Given the description of an element on the screen output the (x, y) to click on. 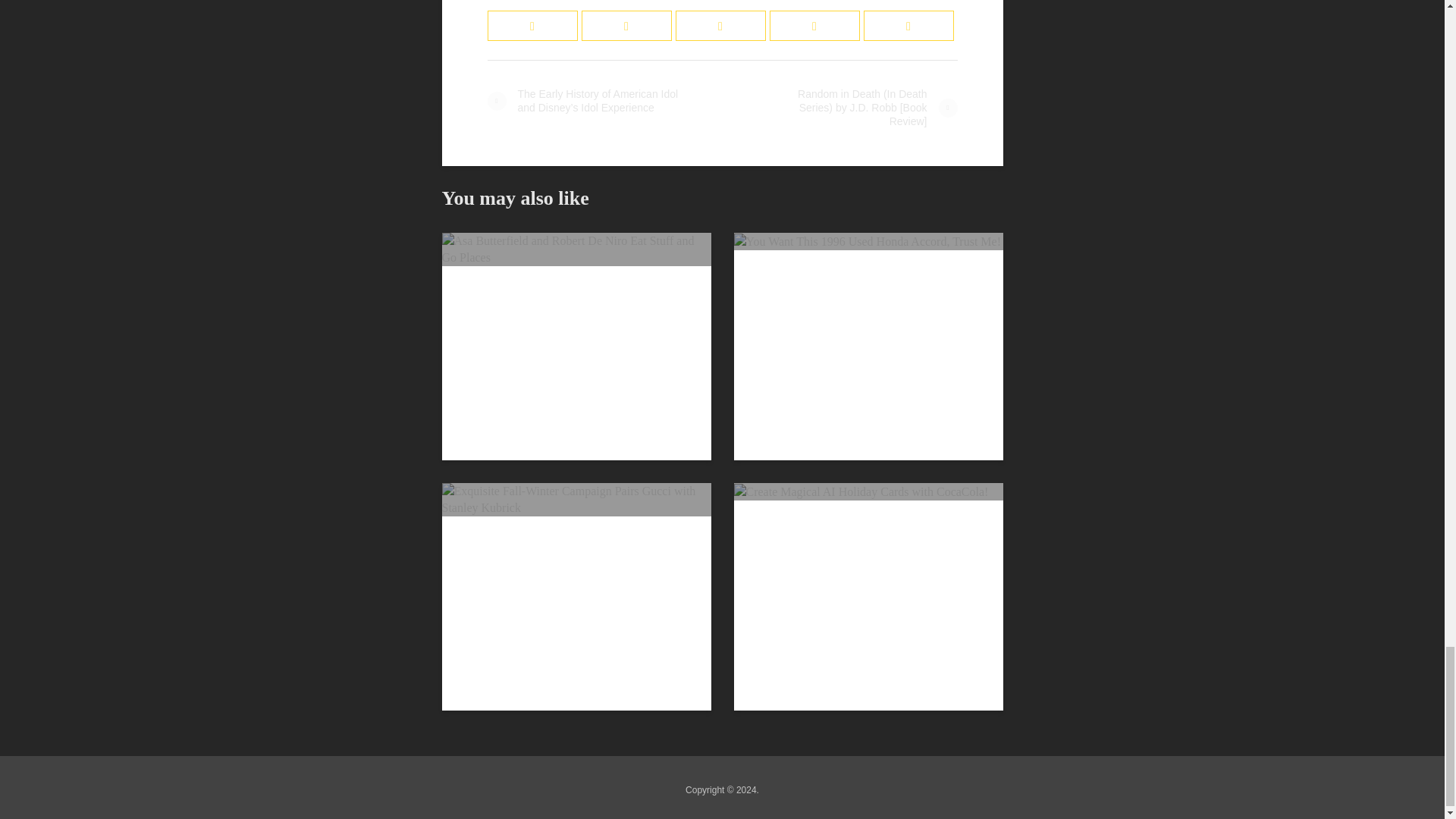
Asa Butterfield and Robert De Niro Eat Stuff and Go Places (575, 249)
You Want This 1996 Used Honda Accord, Trust Me! (867, 240)
You Want This 1996 Used Honda Accord, Trust Me! (867, 241)
Asa Butterfield and Robert De Niro Eat Stuff and Go Places (575, 247)
